Given the description of an element on the screen output the (x, y) to click on. 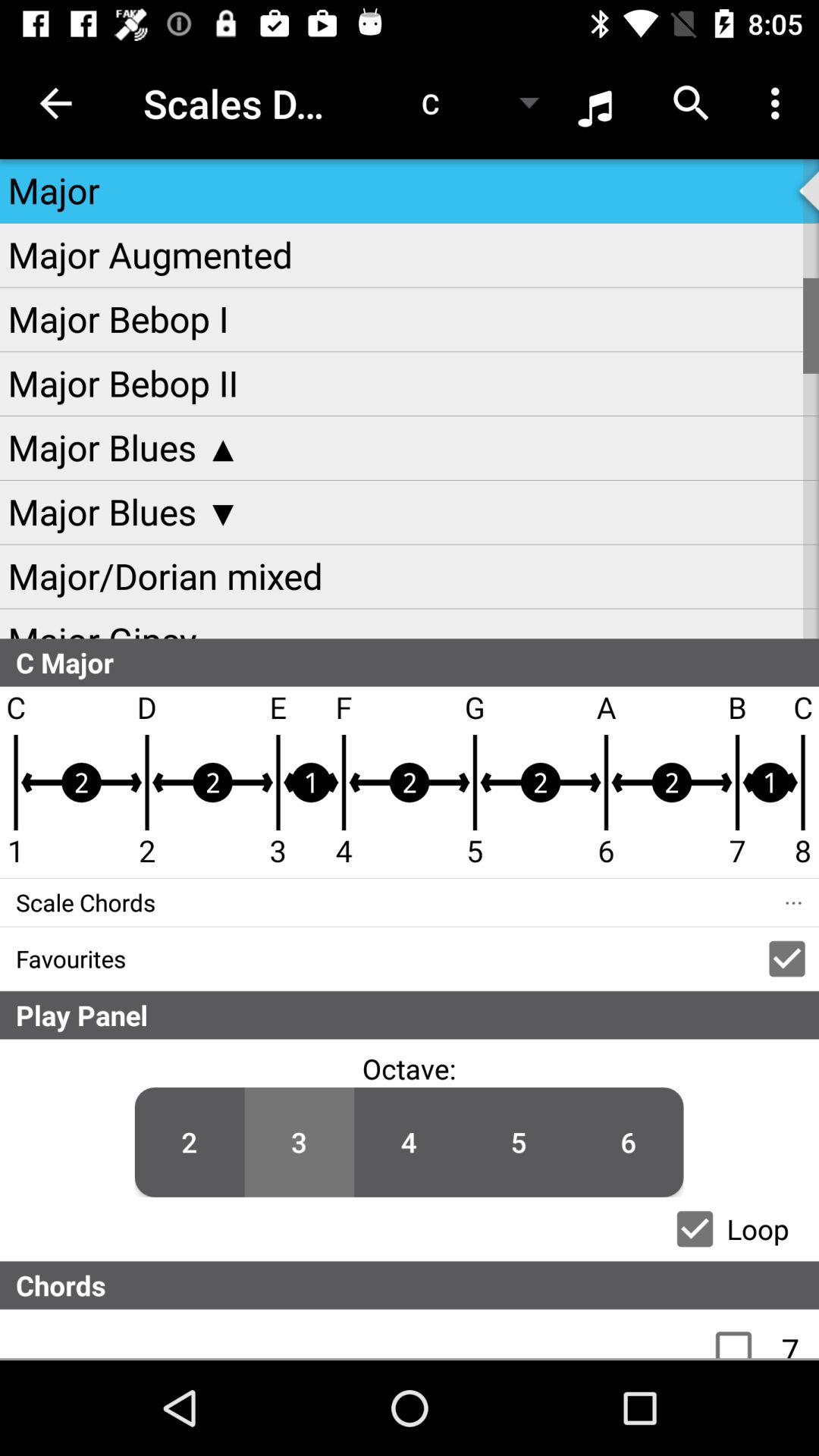
select the check box which is immediately below chords (741, 1333)
select the search icon which is at the top right (691, 103)
select 4 which is below octave on the page (408, 1141)
click on the number 5 which is below the play panel (519, 1141)
